Given the description of an element on the screen output the (x, y) to click on. 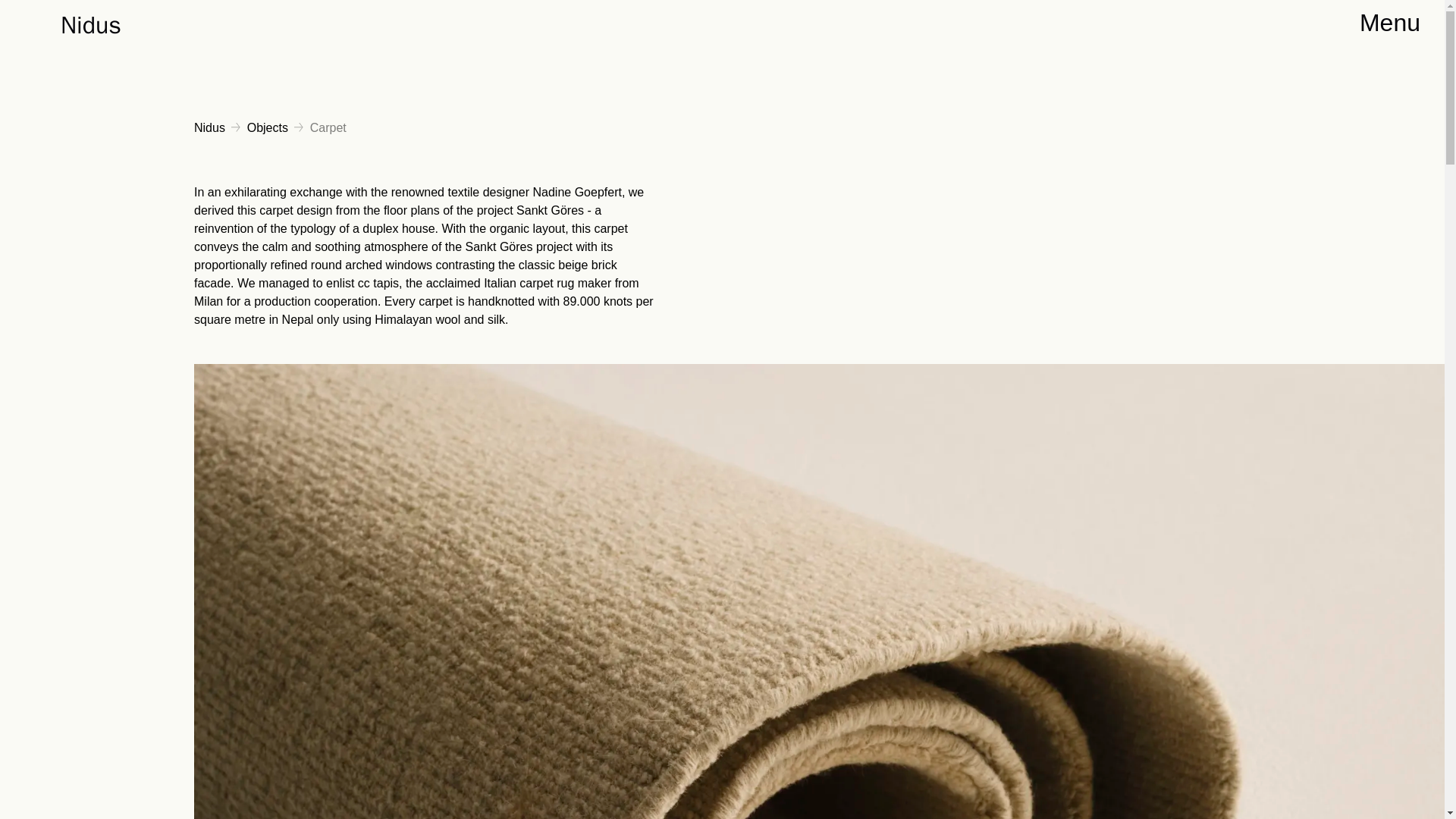
Nidus (90, 28)
Nidus (209, 127)
Objects (267, 127)
Menu (1390, 28)
